Given the description of an element on the screen output the (x, y) to click on. 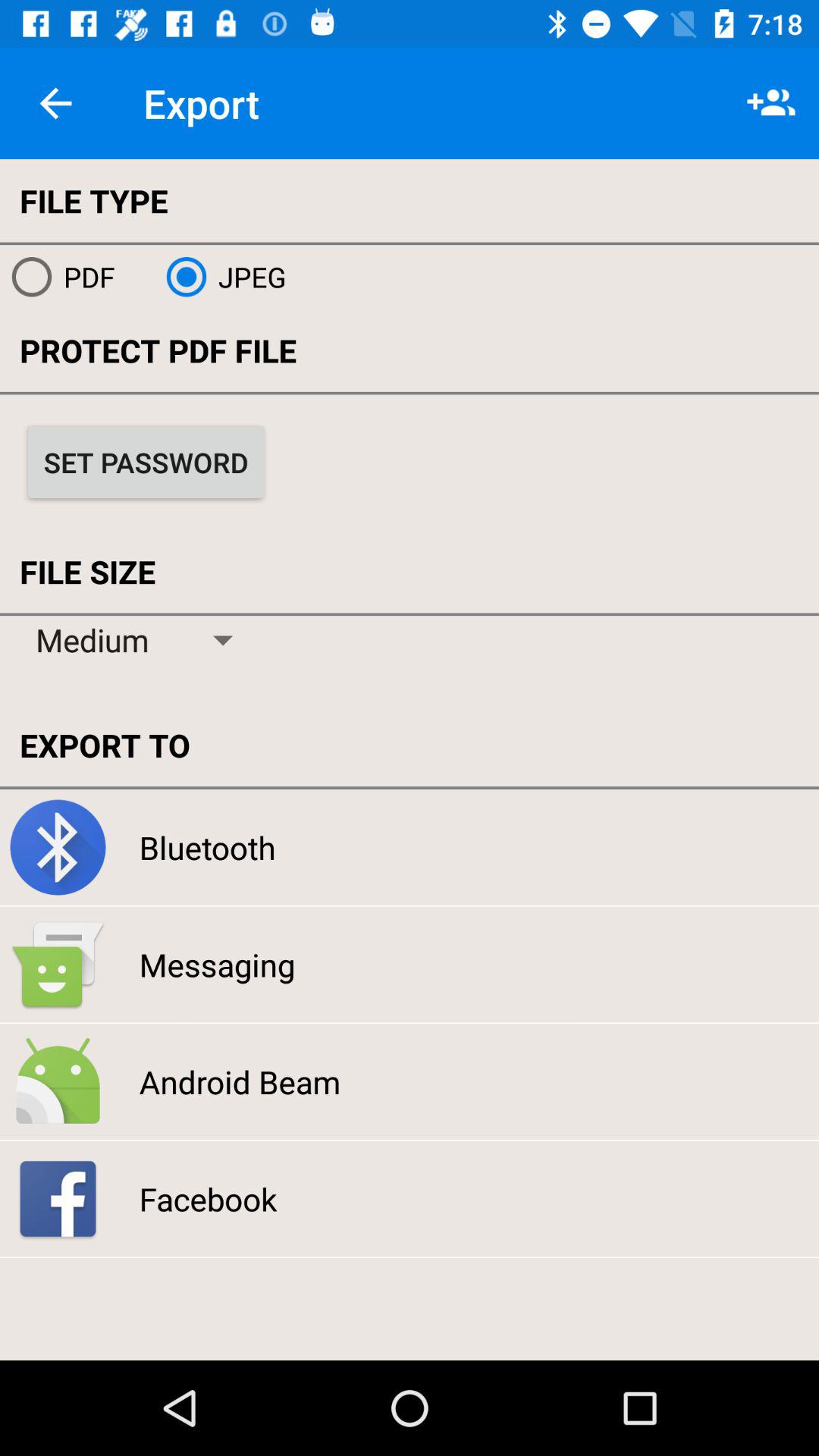
select the icon below messaging item (239, 1081)
